Given the description of an element on the screen output the (x, y) to click on. 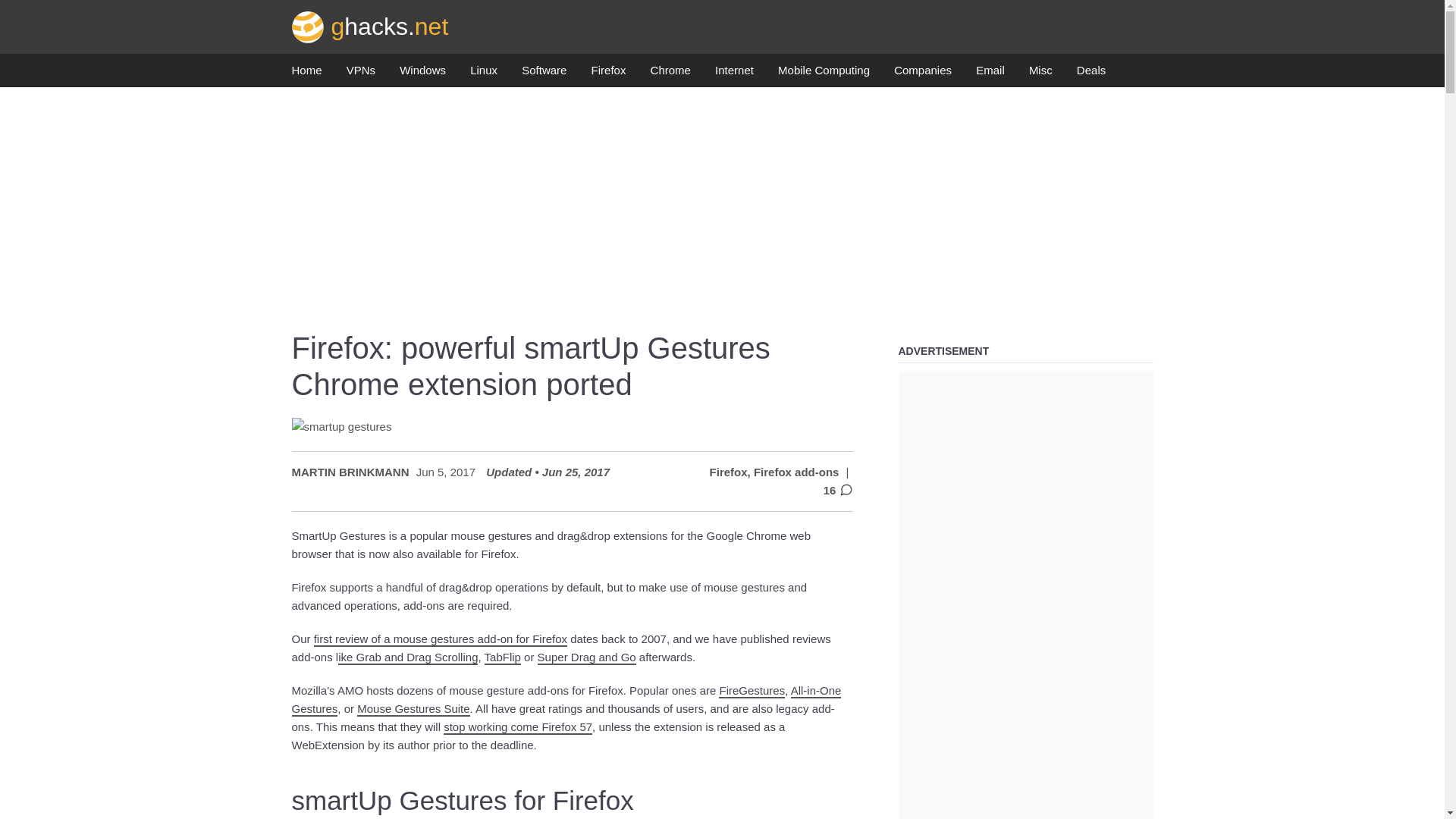
Software (543, 73)
Linux (483, 73)
Mobile Computing (823, 73)
Misc (1040, 73)
Chrome (670, 73)
Email (989, 73)
ghacks.net (369, 26)
Windows (421, 73)
Home (306, 73)
Firefox (608, 73)
